Given the description of an element on the screen output the (x, y) to click on. 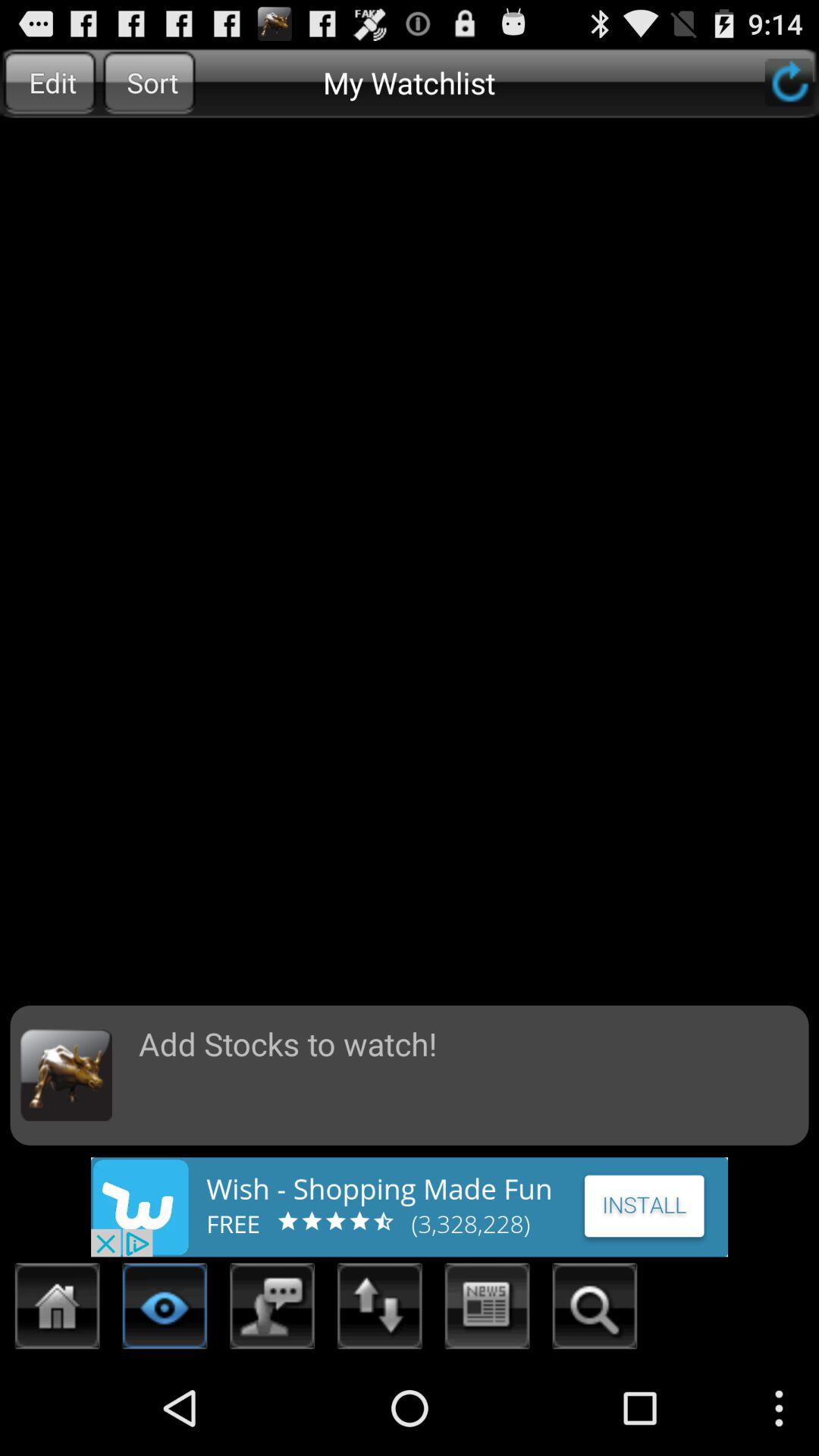
advertisement (409, 1206)
